Given the description of an element on the screen output the (x, y) to click on. 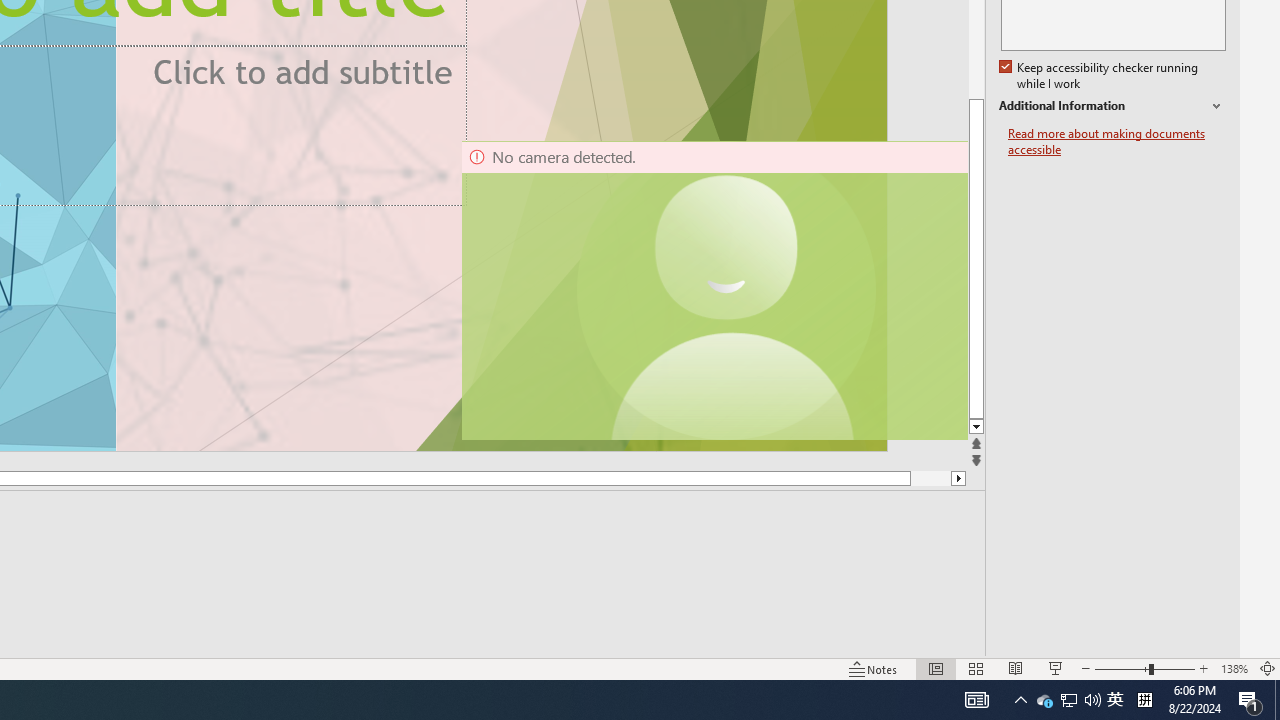
Keep accessibility checker running while I work (1099, 76)
Read more about making documents accessible (1117, 142)
Additional Information (1112, 106)
Zoom 138% (1234, 668)
